Given the description of an element on the screen output the (x, y) to click on. 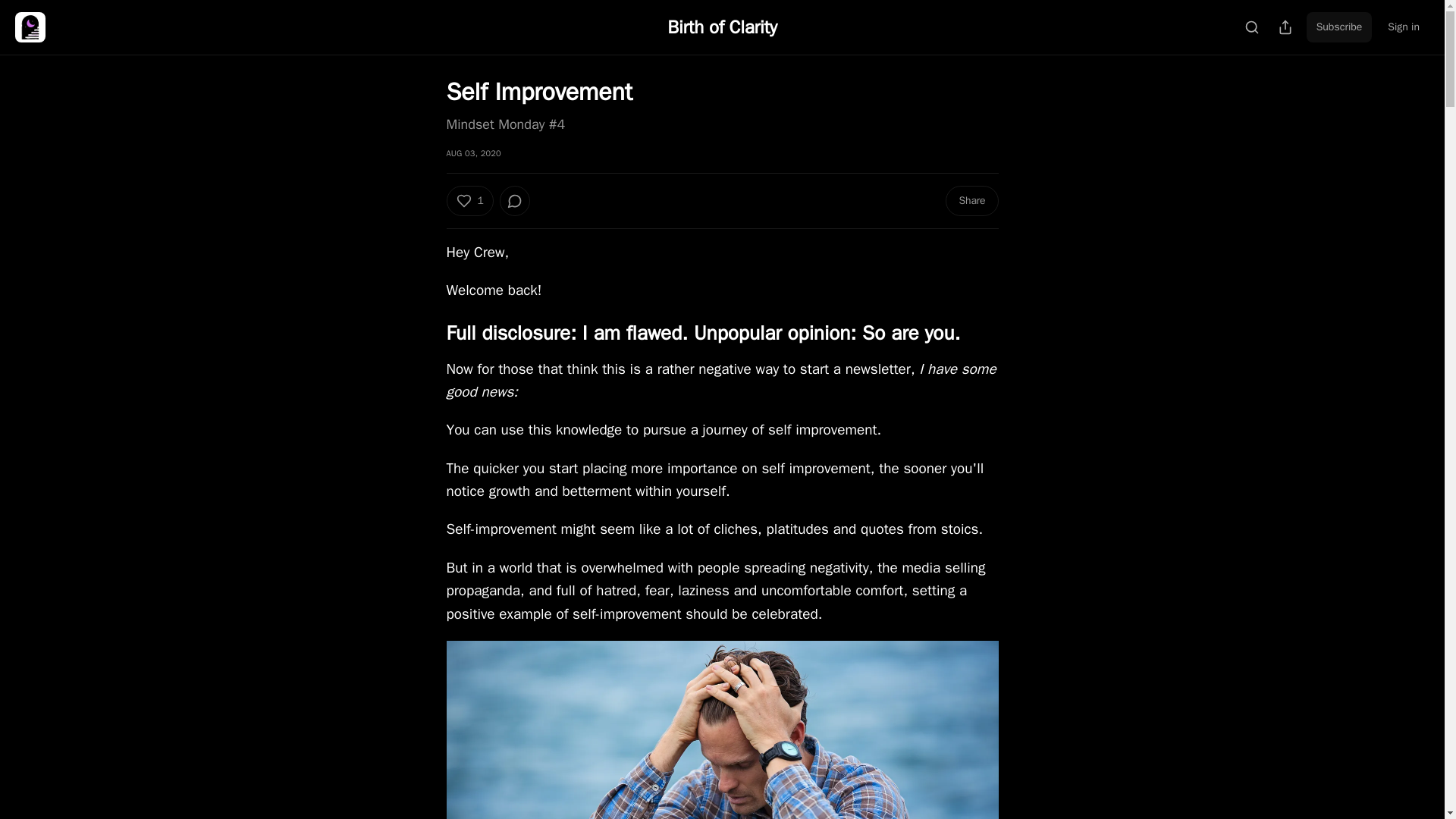
1 (469, 200)
Subscribe (1339, 27)
Sign in (1403, 27)
Share (970, 200)
Birth of Clarity (721, 26)
